Given the description of an element on the screen output the (x, y) to click on. 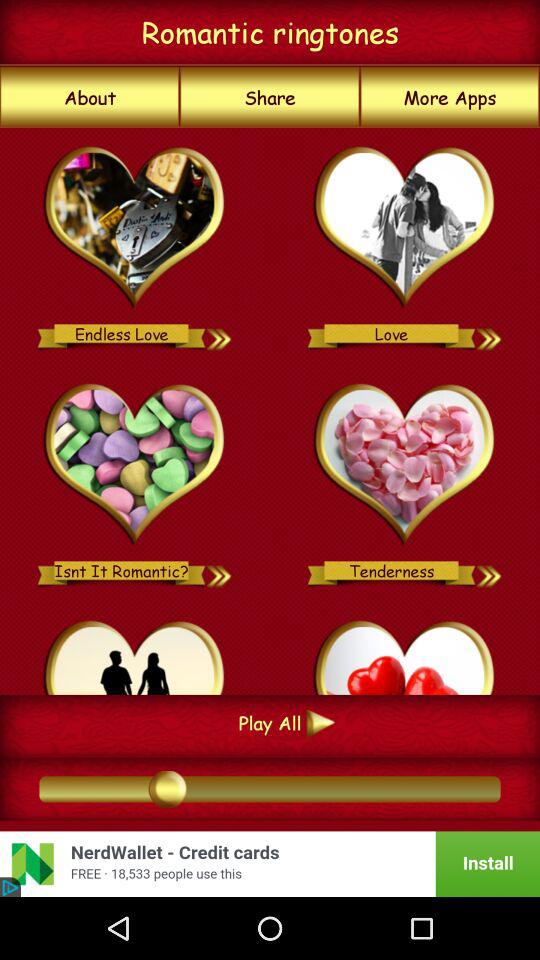
go forward (220, 333)
